Given the description of an element on the screen output the (x, y) to click on. 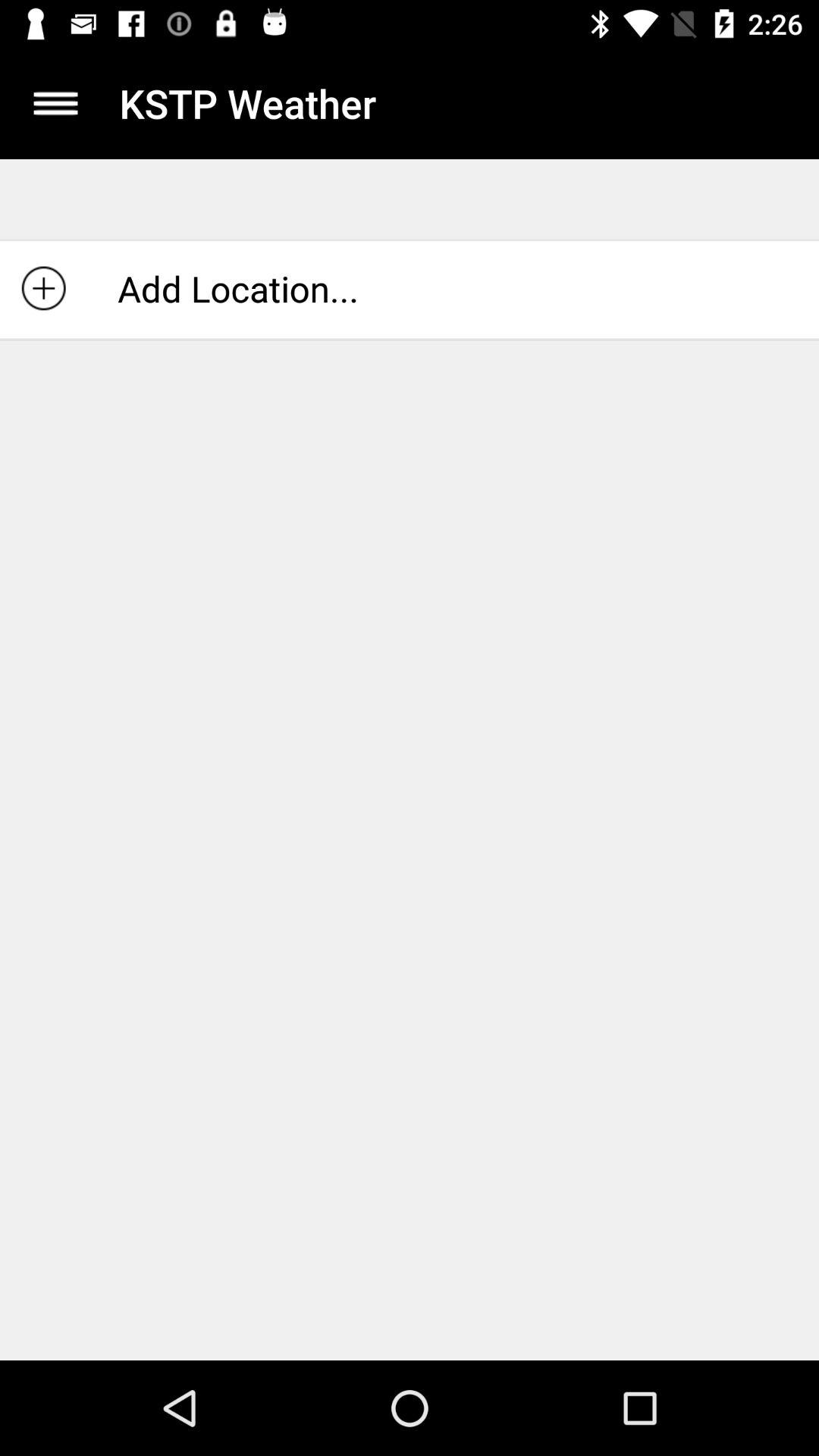
display menu (55, 103)
